Given the description of an element on the screen output the (x, y) to click on. 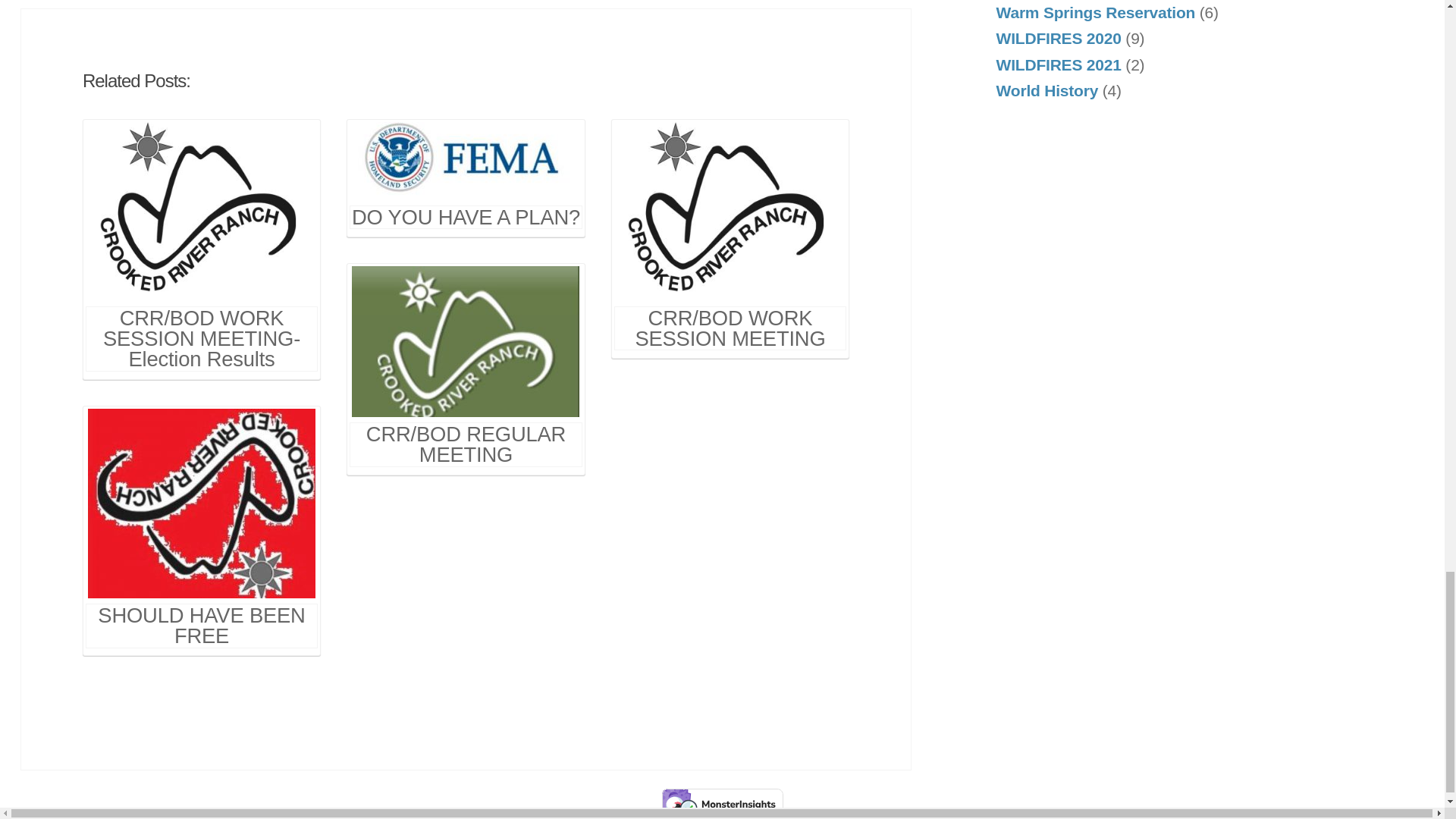
SHOULD HAVE BEEN FREE (201, 545)
DO YOU HAVE A PLAN? (464, 188)
SHOULD HAVE BEEN FREE (201, 503)
DO YOU HAVE A PLAN? (465, 160)
